Given the description of an element on the screen output the (x, y) to click on. 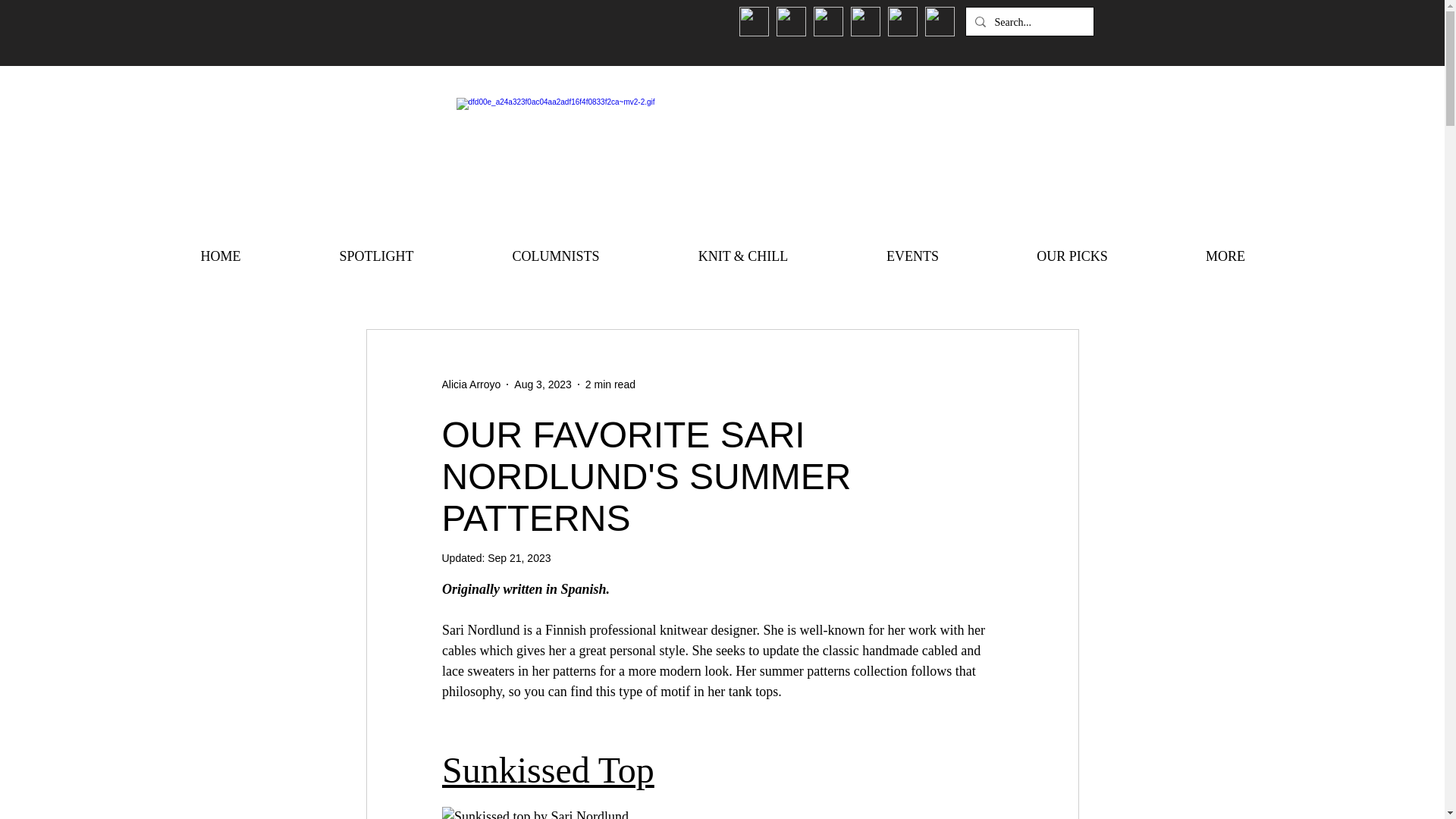
Aug 3, 2023 (542, 383)
Alicia Arroyo (470, 383)
2 min read (609, 383)
Alicia Arroyo (470, 383)
Sunkissed Top (547, 770)
COLUMNISTS (555, 256)
HOME (220, 256)
Sep 21, 2023 (518, 558)
